Given the description of an element on the screen output the (x, y) to click on. 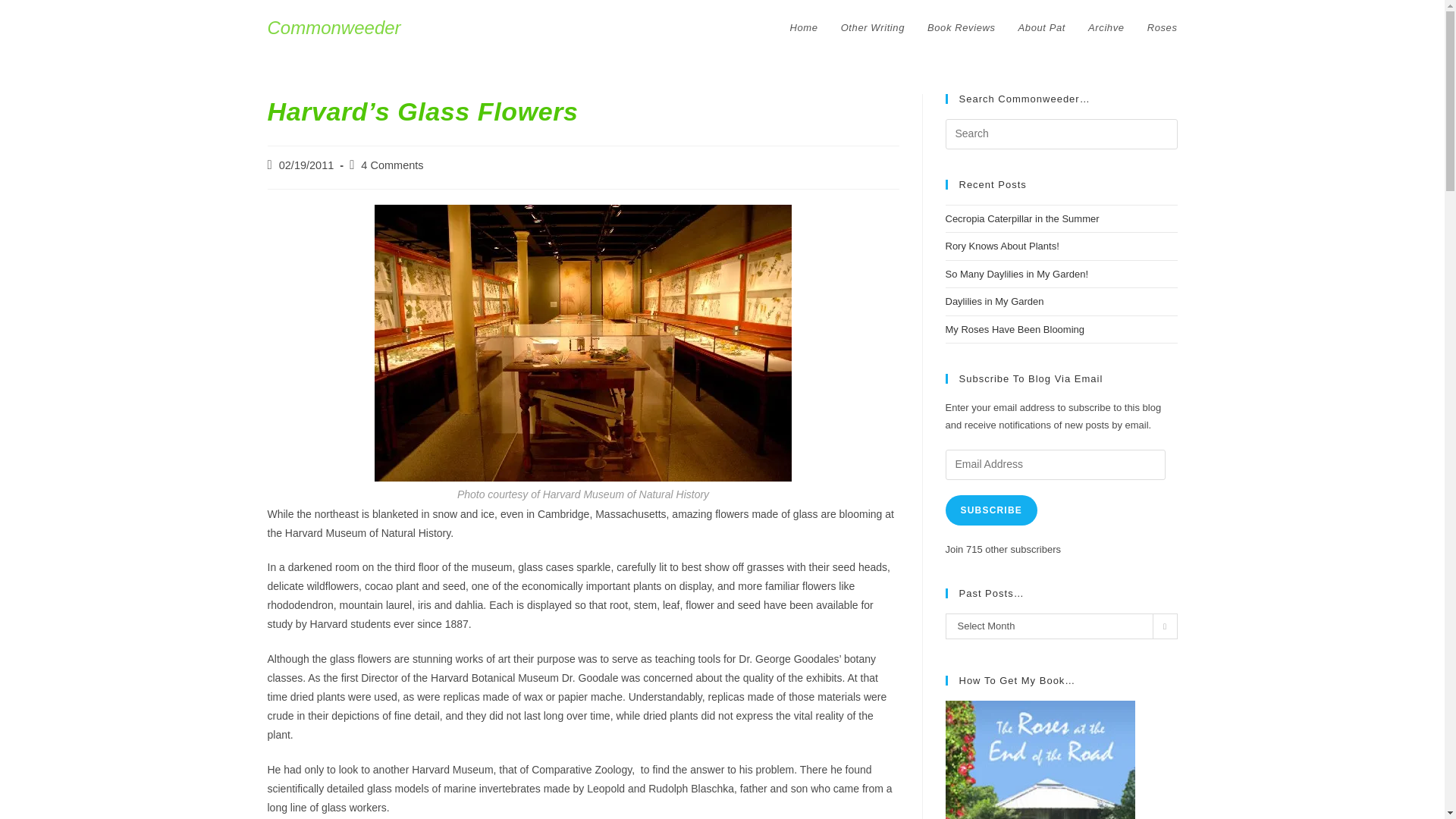
About Pat (1042, 28)
Home (803, 28)
4 Comments (392, 164)
Arcihve (1106, 28)
Roses (1162, 28)
Other Writing (872, 28)
Cecropia Caterpillar in the Summer (1021, 218)
Book Reviews (961, 28)
Commonweeder (333, 27)
BlaschkaworkbenchGallery (583, 342)
